Given the description of an element on the screen output the (x, y) to click on. 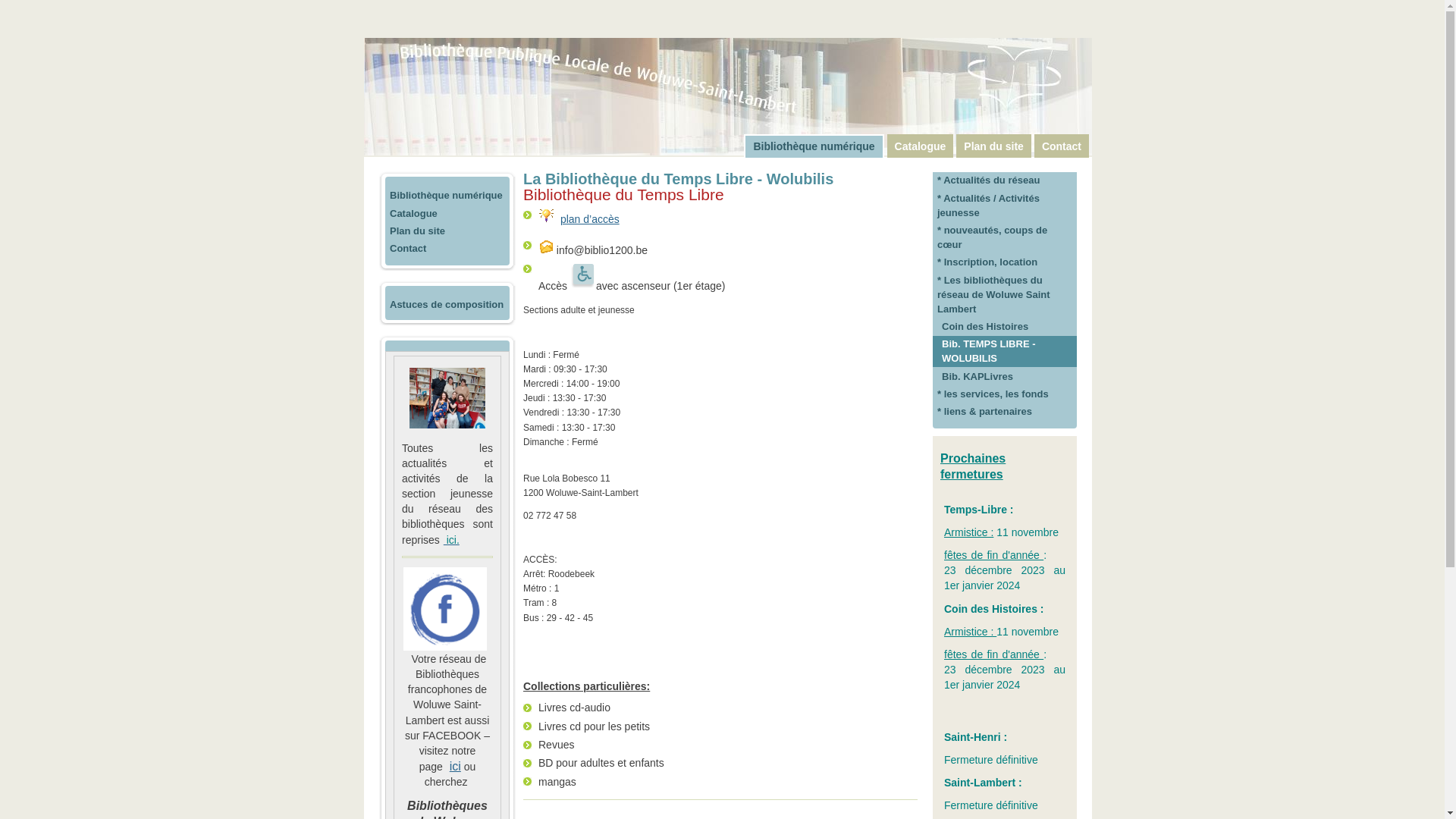
Plan du site Element type: text (447, 230)
* liens & partenaires Element type: text (1004, 411)
ici Element type: text (453, 765)
Contact Element type: text (447, 248)
enlightened Element type: hover (545, 214)
ici. Element type: text (449, 539)
Bib. TEMPS LIBRE - WOLUBILIS Element type: text (1004, 350)
Contact Element type: text (1061, 145)
Bib. KAPLivres Element type: text (1004, 376)
Catalogue Element type: text (920, 145)
* Inscription, location Element type: text (1004, 261)
Catalogue Element type: text (447, 213)
mail Element type: hover (545, 246)
Plan du site Element type: text (993, 145)
* les services, les fonds Element type: text (1004, 393)
Astuces de composition Element type: text (447, 304)
Coin des Histoires Element type: text (1004, 326)
